Given the description of an element on the screen output the (x, y) to click on. 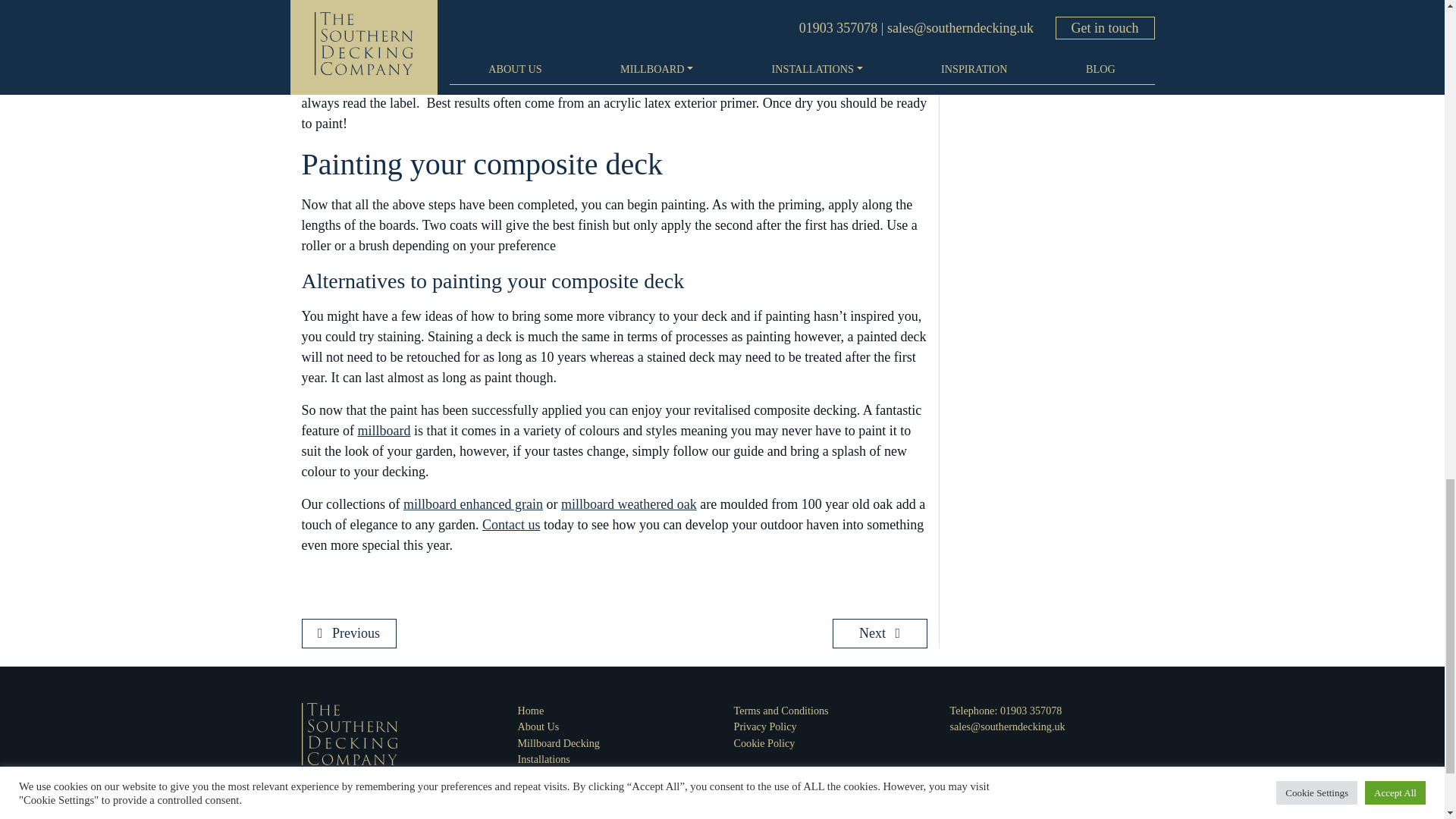
Terms and Conditions (780, 710)
Installations (542, 758)
Residential Composite Decking (584, 775)
 Previous (354, 632)
Millboard Decking (557, 743)
millboard enhanced grain (473, 503)
Contact us (510, 524)
Inspiration (539, 807)
About Us (537, 726)
millboard weathered oak (628, 503)
Next  (874, 632)
Home (529, 710)
millboard (383, 430)
Commercial Composite Decking (587, 790)
